Given the description of an element on the screen output the (x, y) to click on. 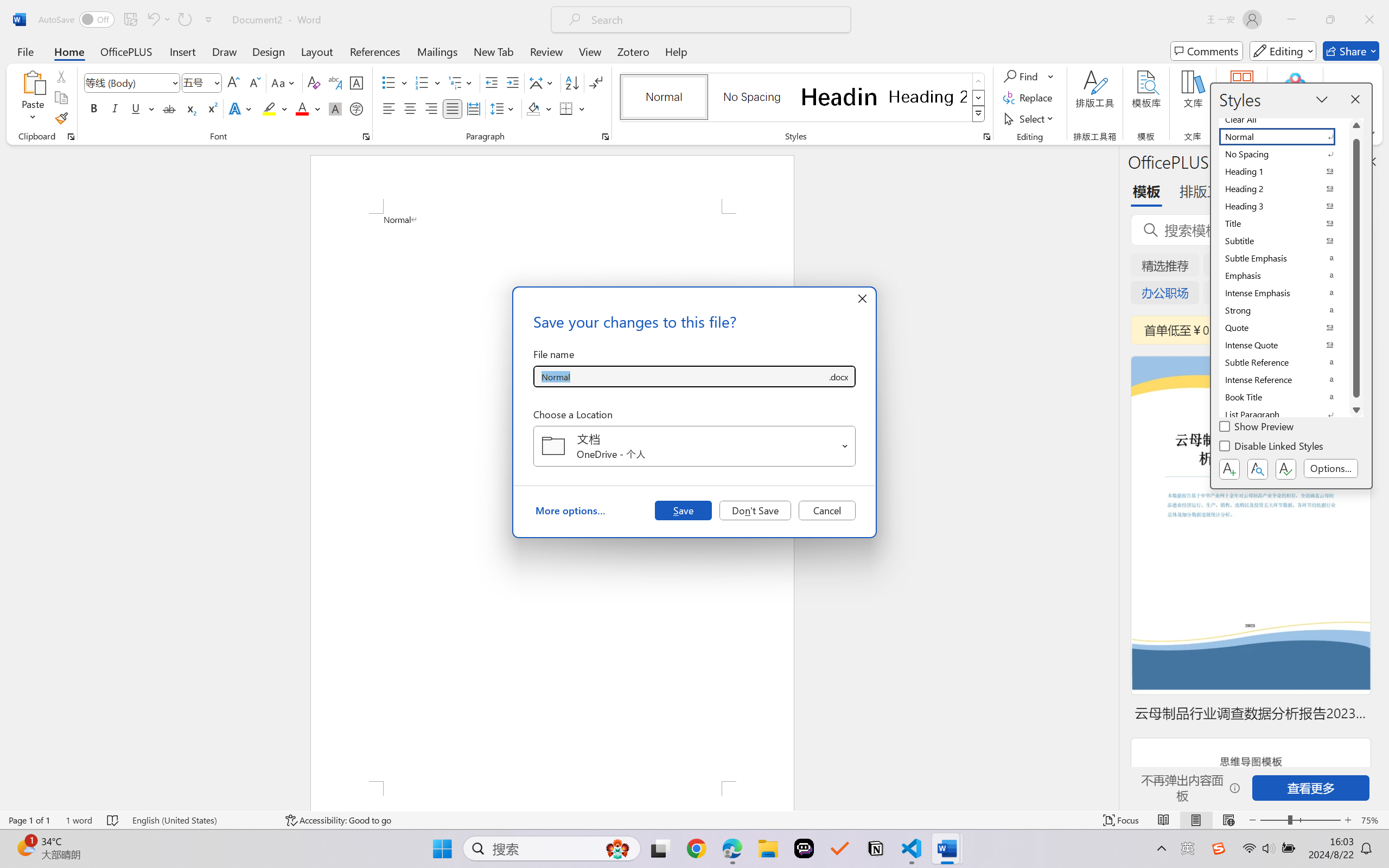
Spelling and Grammar Check No Errors (113, 819)
Print Layout (1196, 819)
Underline (135, 108)
Select (1030, 118)
Mailings (437, 51)
Draw (224, 51)
Enclose Characters... (356, 108)
Choose a Location (694, 446)
Quick Access Toolbar (127, 19)
Multilevel List (461, 82)
Read Mode (1163, 819)
Book Title (1283, 397)
Normal (1283, 136)
